Given the description of an element on the screen output the (x, y) to click on. 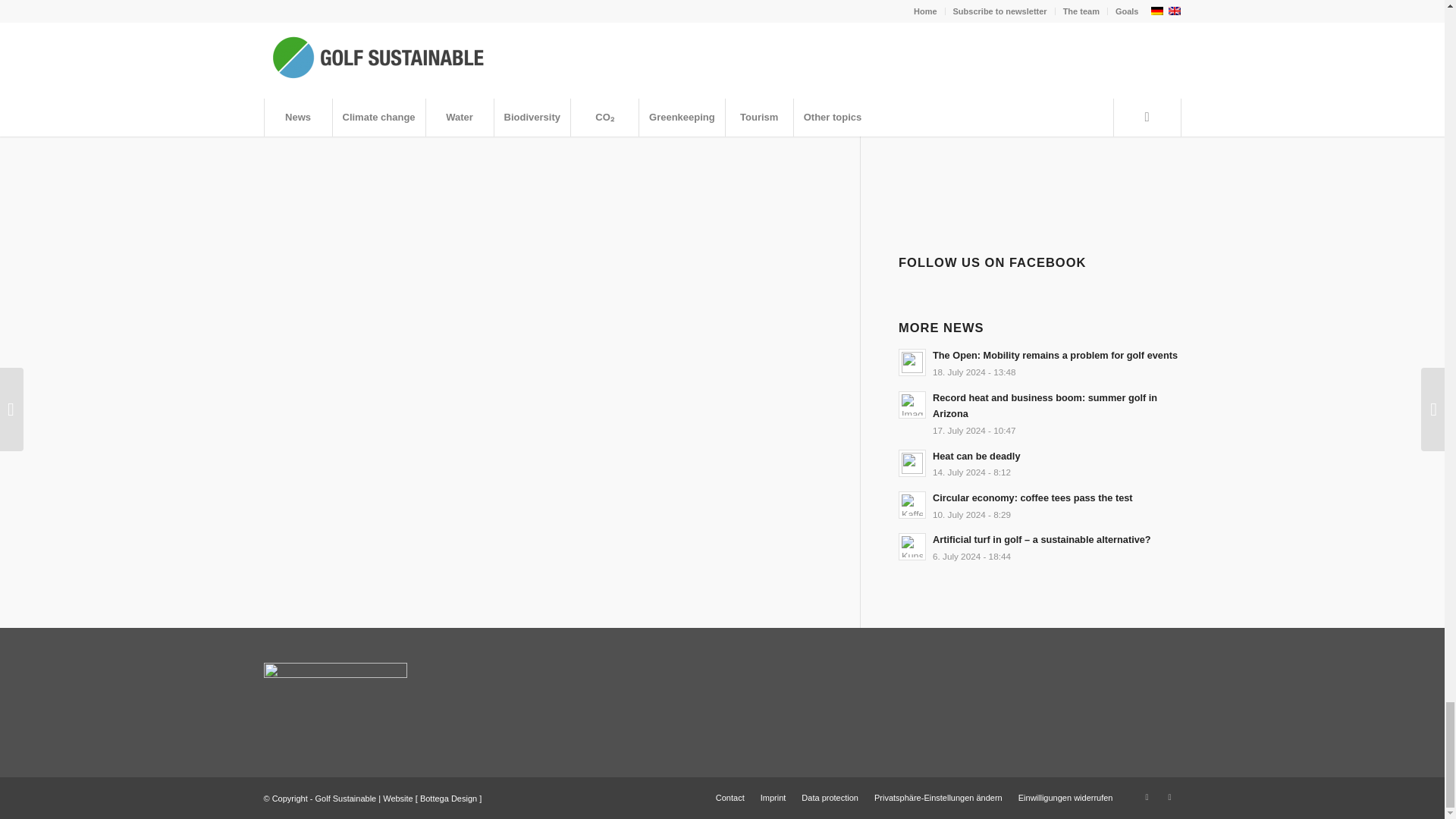
Read: The Open: Mobility remains a problem for golf events (912, 361)
